Given the description of an element on the screen output the (x, y) to click on. 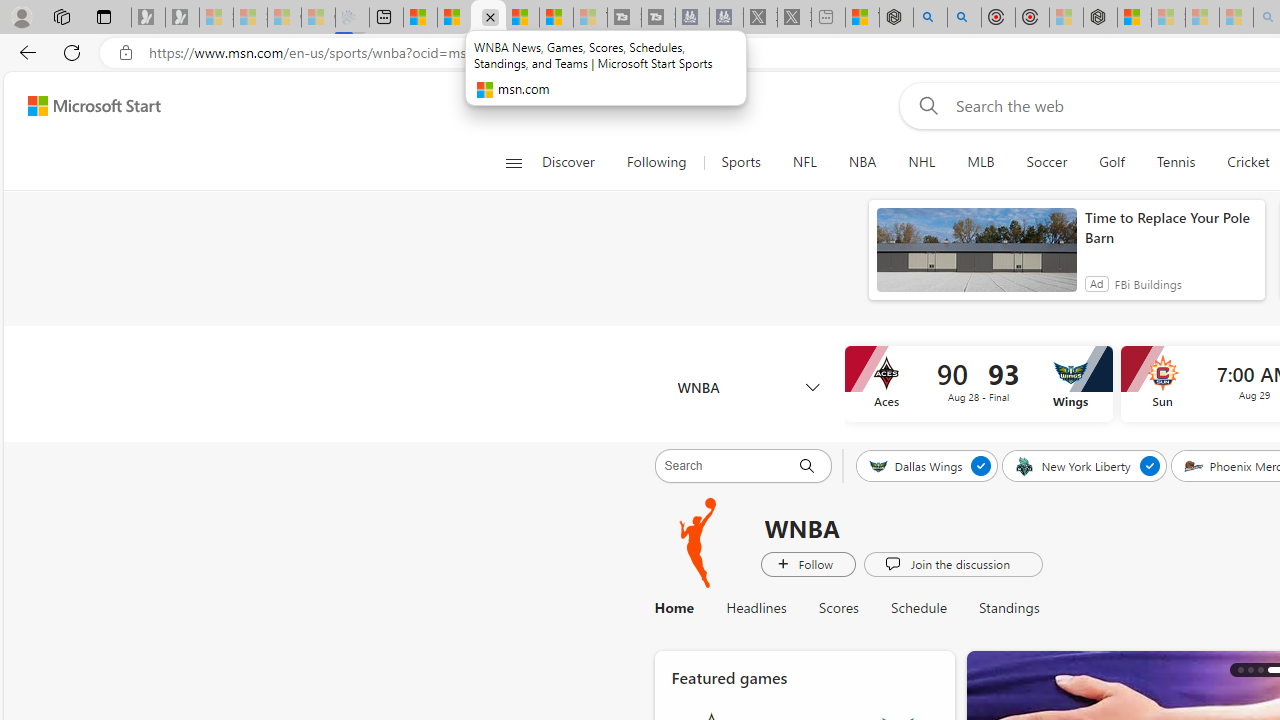
NHL (922, 162)
Newsletter Sign Up - Sleeping (182, 17)
Soccer (1046, 162)
Streaming Coverage | T3 - Sleeping (624, 17)
Open navigation menu (513, 162)
Skip to footer (82, 105)
WNBA (699, 543)
Tennis (1175, 162)
